Given the description of an element on the screen output the (x, y) to click on. 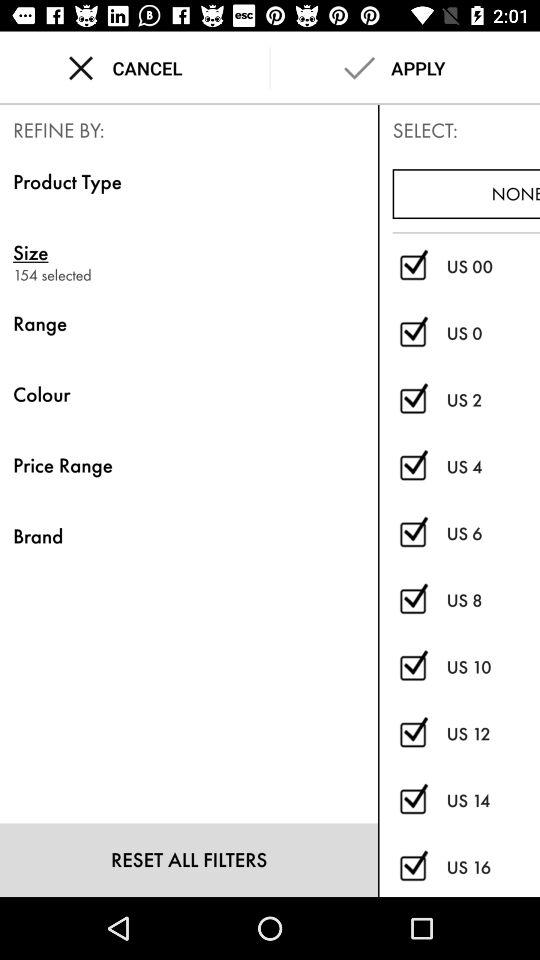
turn on the us 0 item (493, 333)
